Given the description of an element on the screen output the (x, y) to click on. 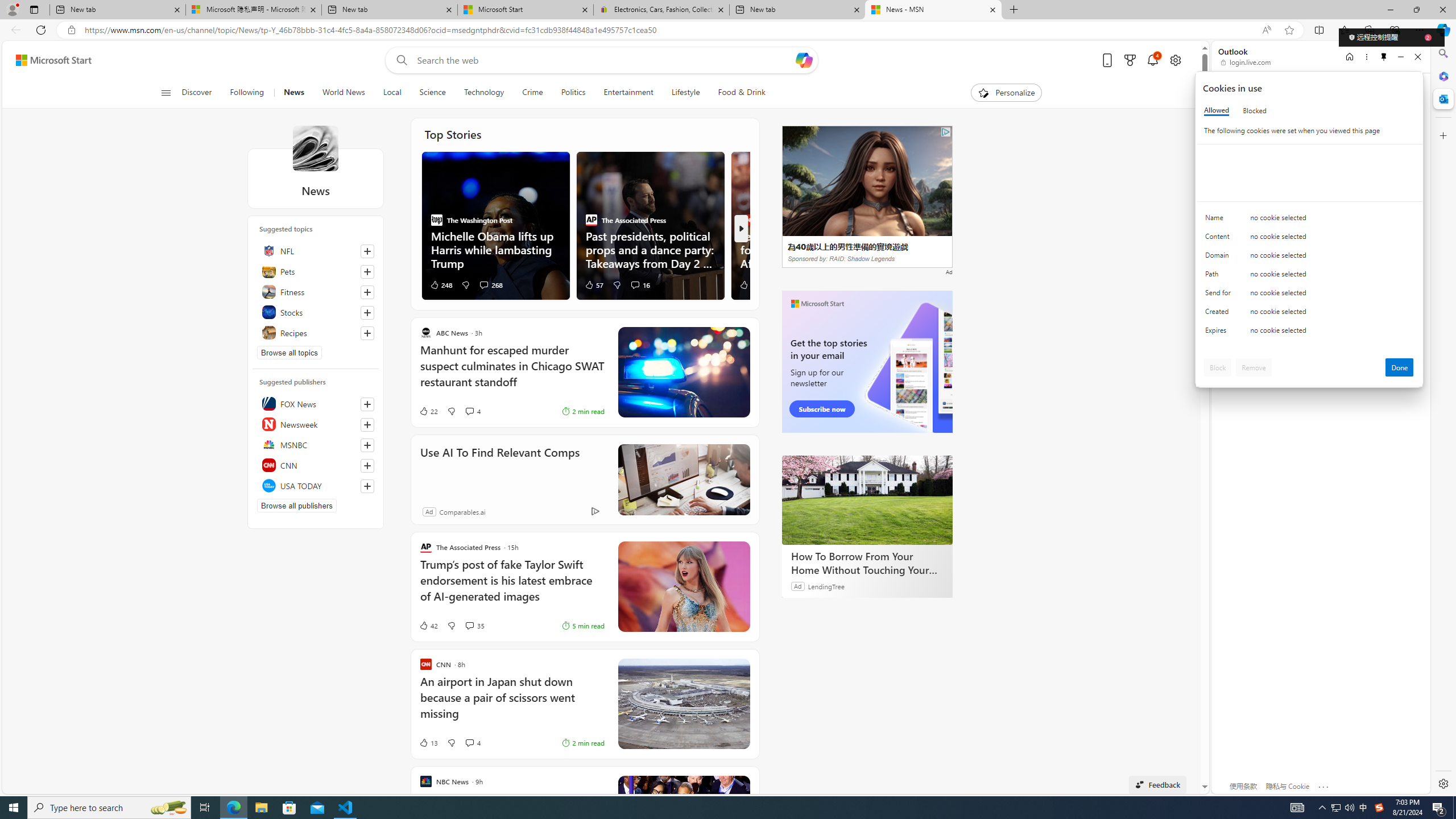
Done (1399, 367)
Michelle Obama lifts up Harris while lambasting Trump (495, 249)
View comments 16 Comment (640, 284)
42 Like (427, 625)
